Given the description of an element on the screen output the (x, y) to click on. 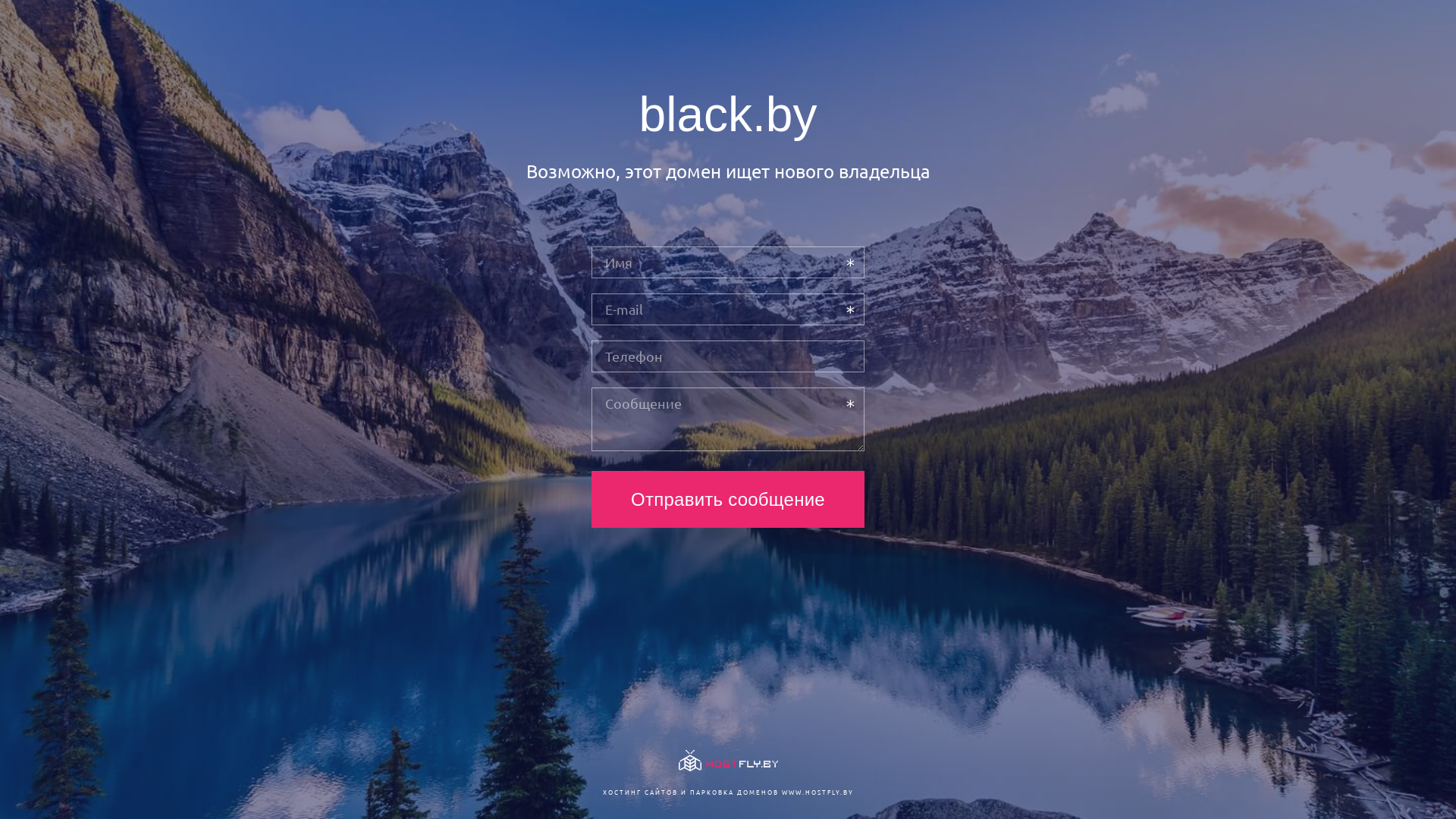
WWW.HOSTFLY.BY Element type: text (817, 791)
